Given the description of an element on the screen output the (x, y) to click on. 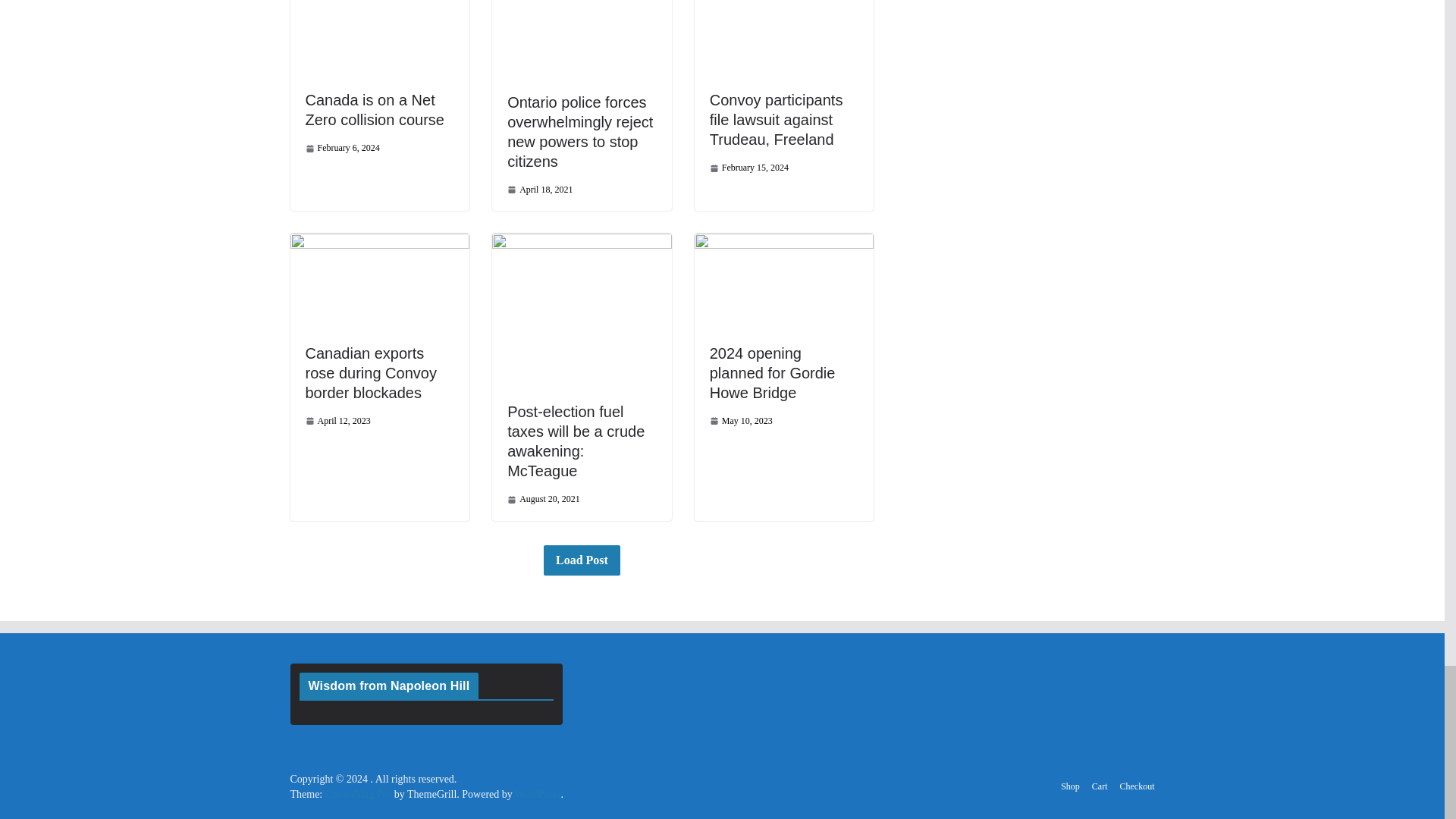
12:14 pm (341, 147)
April 18, 2021 (539, 189)
Canada is on a Net Zero collision course (374, 109)
Convoy participants file lawsuit against Trudeau, Freeland (776, 119)
Convoy participants file lawsuit against Trudeau, Freeland (776, 119)
8:00 am (749, 167)
February 6, 2024 (341, 147)
9:02 am (539, 189)
Canada is on a Net Zero collision course (374, 109)
